Given the description of an element on the screen output the (x, y) to click on. 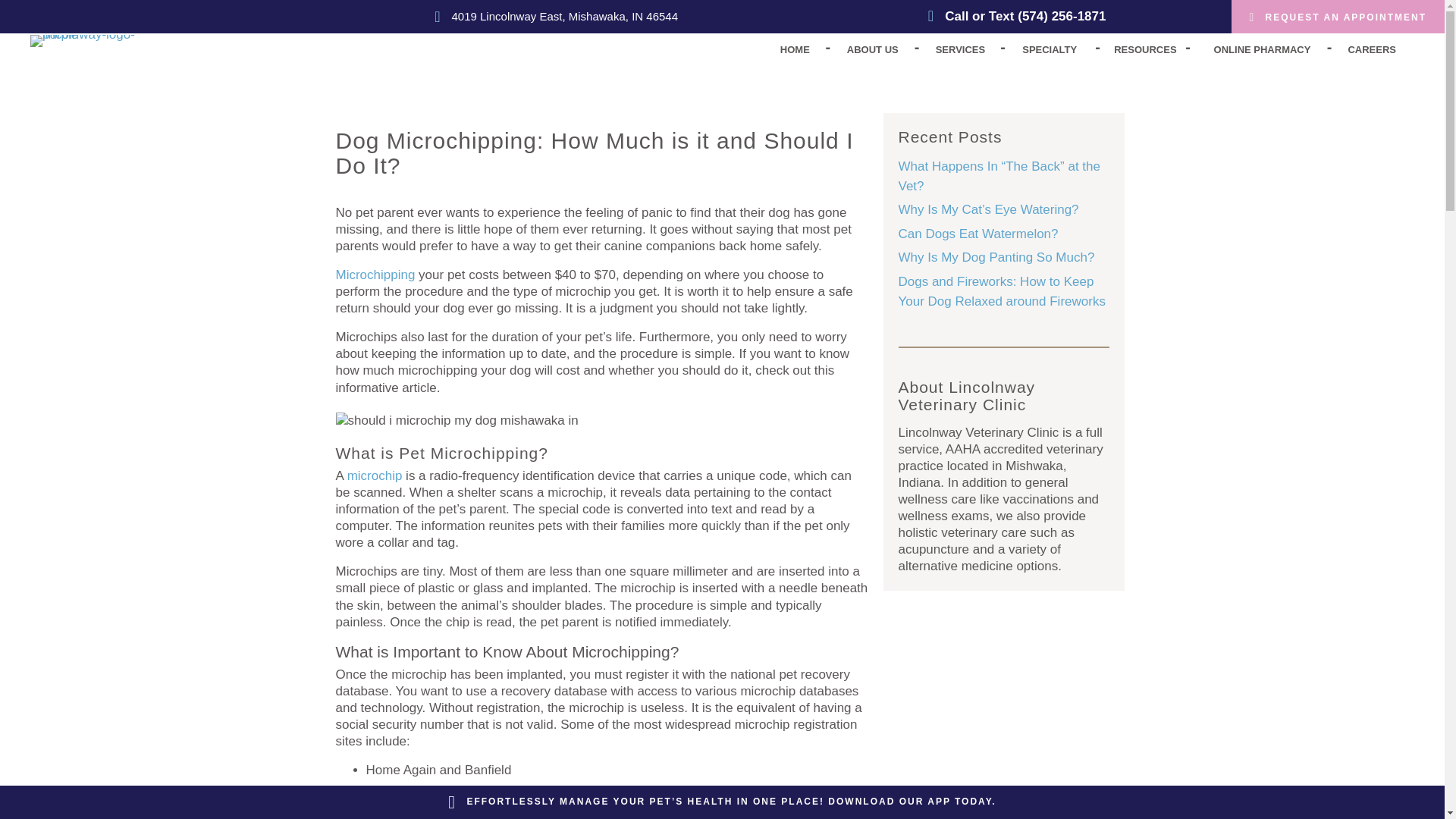
Can Dogs Eat Watermelon? (978, 233)
lincolnway-logo-purple (90, 40)
Why Is My Dog Panting So Much? (996, 257)
